Given the description of an element on the screen output the (x, y) to click on. 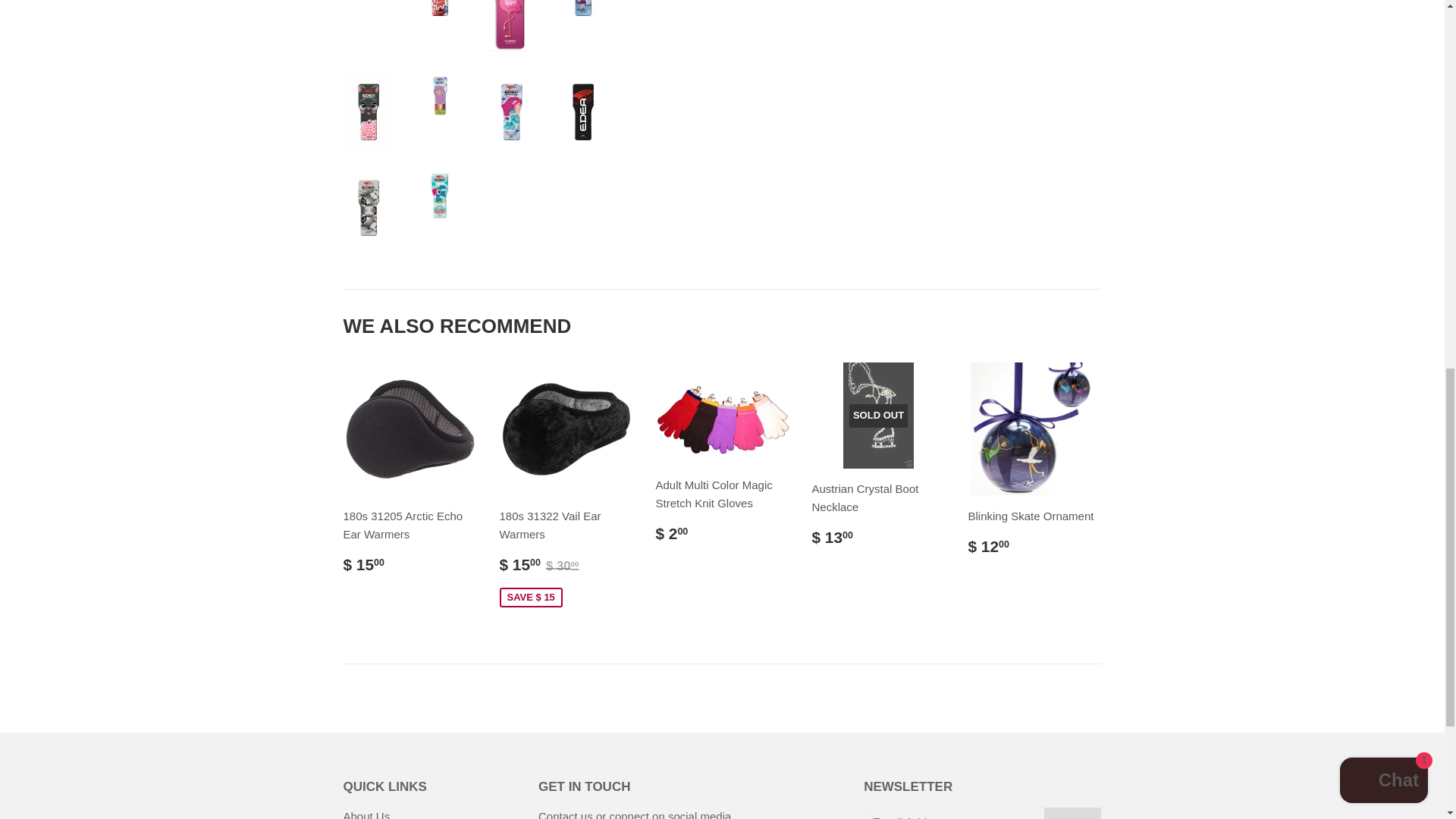
Sign Up (1072, 813)
